Given the description of an element on the screen output the (x, y) to click on. 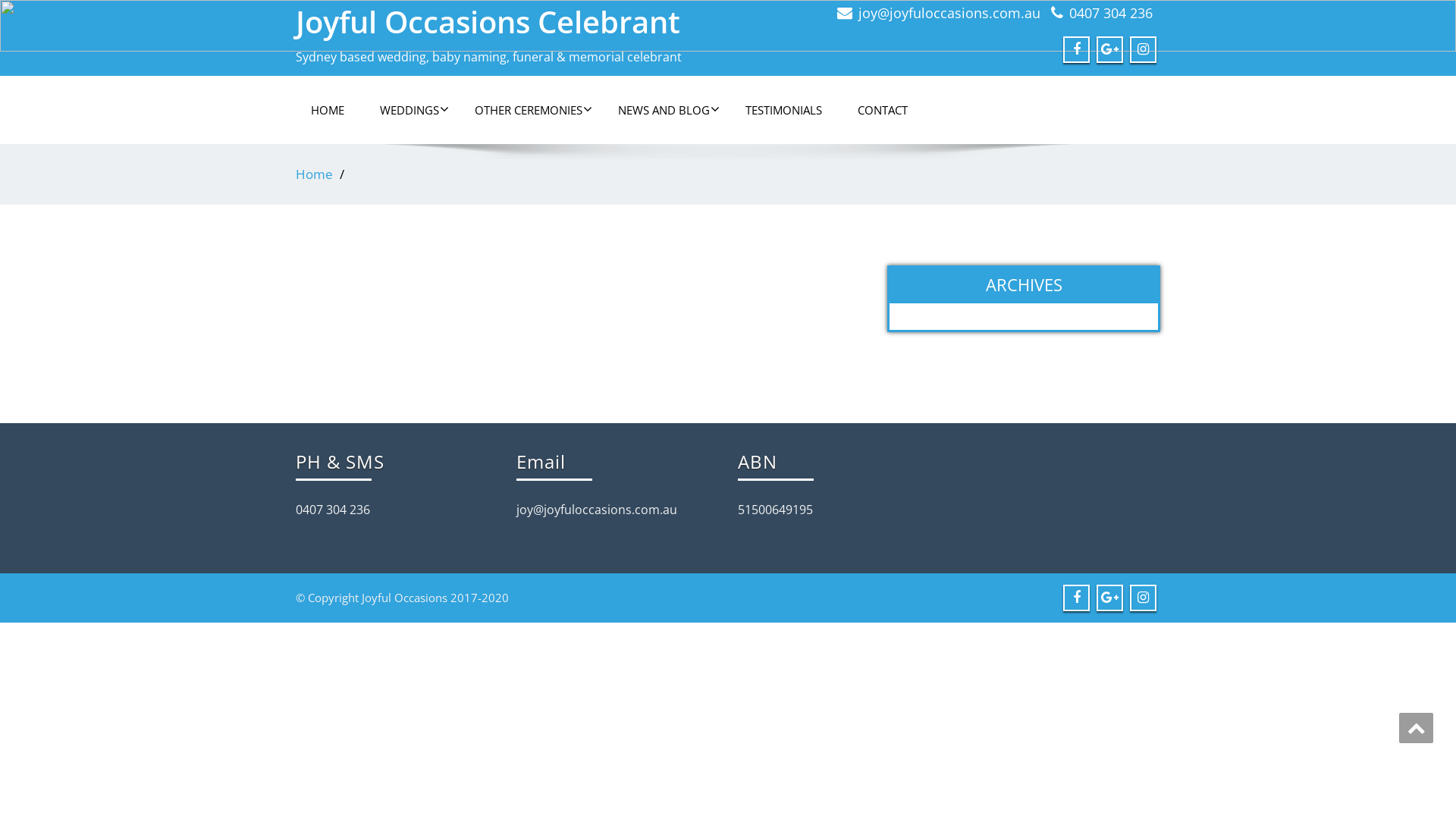
joy@joyfuloccasions.com.au Element type: text (949, 12)
Go Top Element type: hover (1416, 727)
HOME Element type: text (327, 109)
CONTACT Element type: text (882, 109)
OTHER CEREMONIES Element type: text (528, 109)
TESTIMONIALS Element type: text (783, 109)
WEDDINGS Element type: text (409, 109)
0407 304 236 Element type: text (1110, 12)
Joyful Occasions Celebrant Element type: text (487, 21)
Home Element type: text (313, 173)
NEWS AND BLOG Element type: text (663, 109)
